Given the description of an element on the screen output the (x, y) to click on. 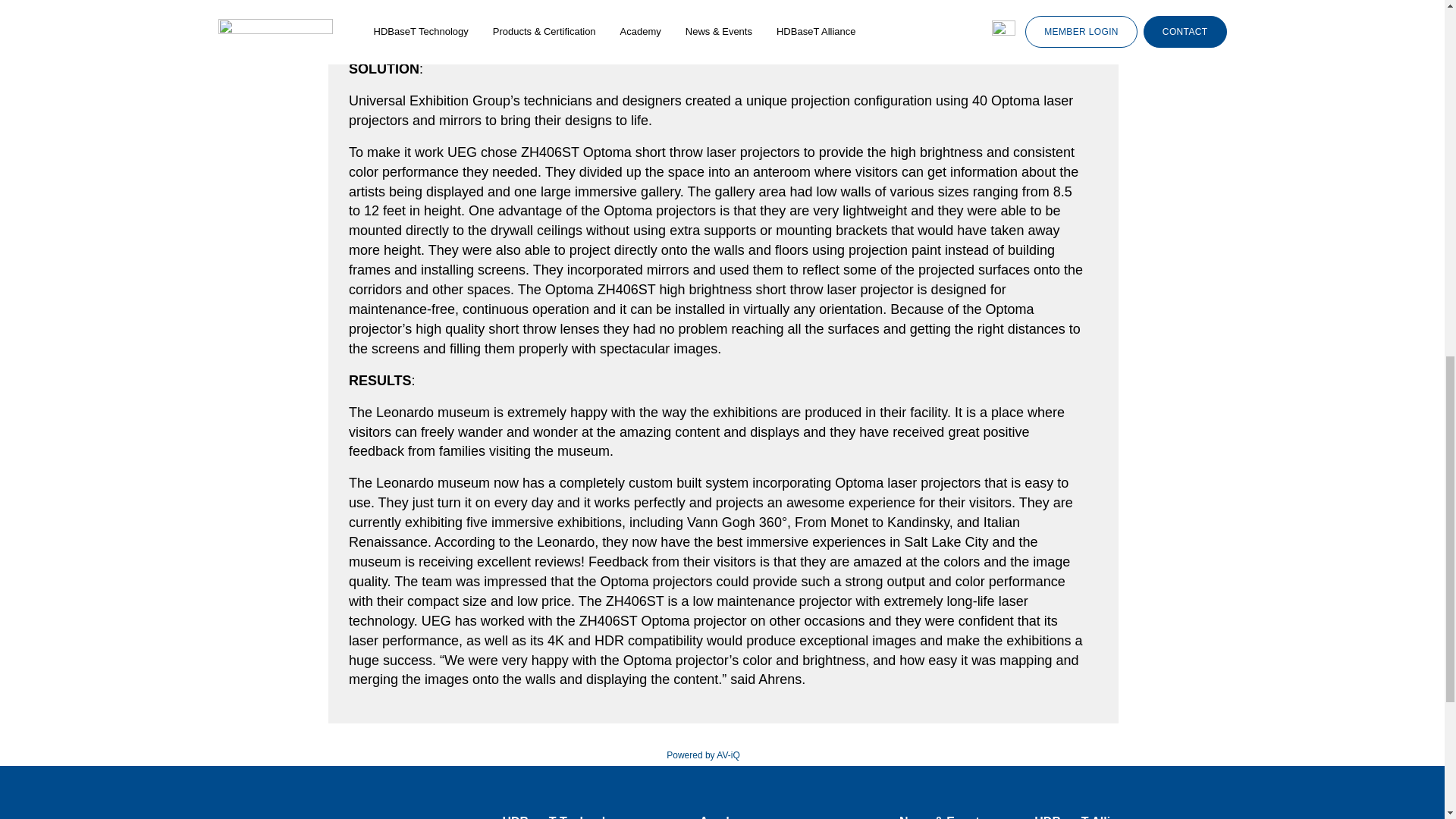
HDBaseT Technology (589, 816)
Powered by AV-iQ (702, 755)
Academy (788, 816)
